Given the description of an element on the screen output the (x, y) to click on. 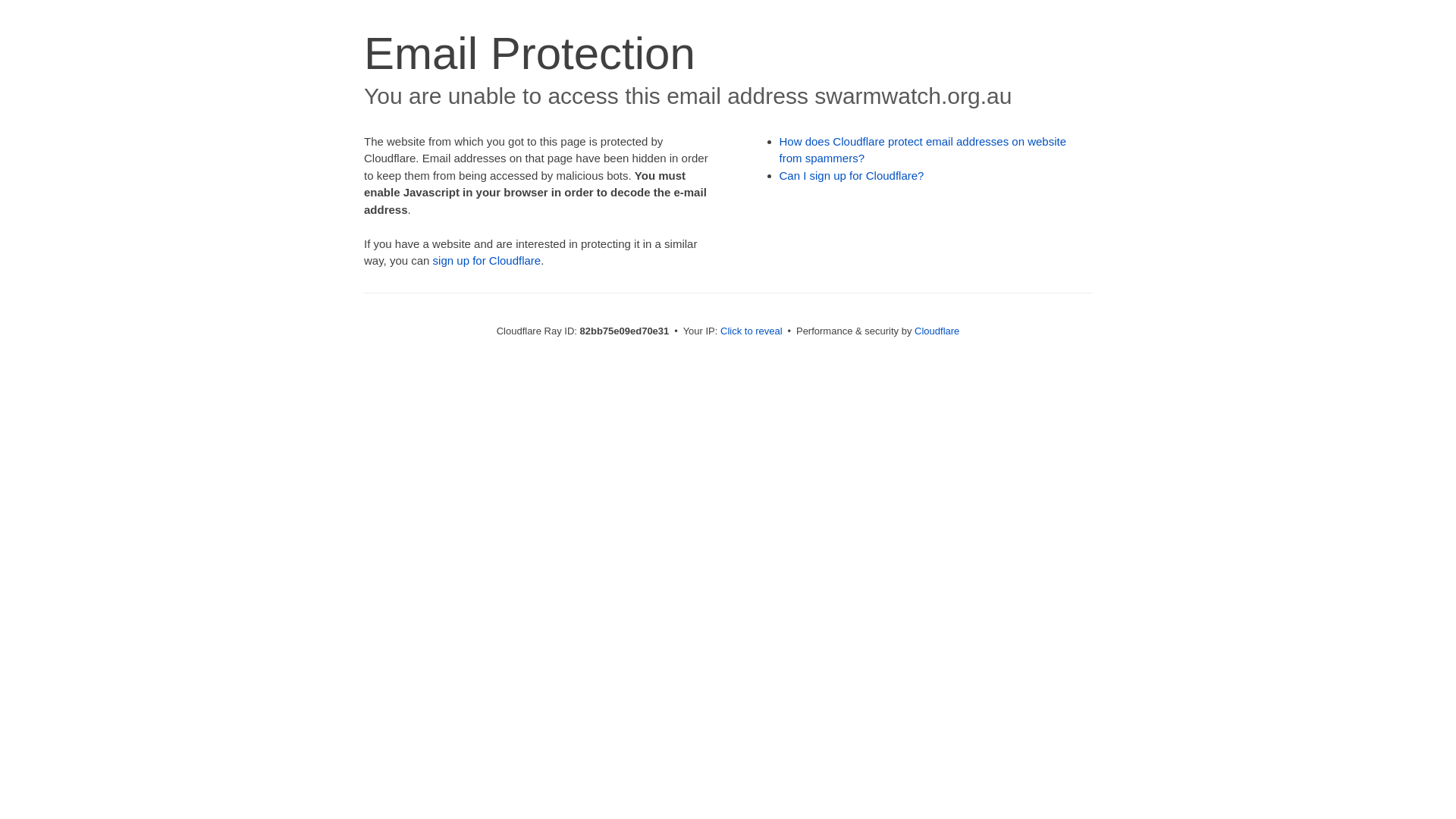
Cloudflare Element type: text (936, 330)
sign up for Cloudflare Element type: text (487, 260)
Can I sign up for Cloudflare? Element type: text (851, 175)
Click to reveal Element type: text (751, 330)
